Given the description of an element on the screen output the (x, y) to click on. 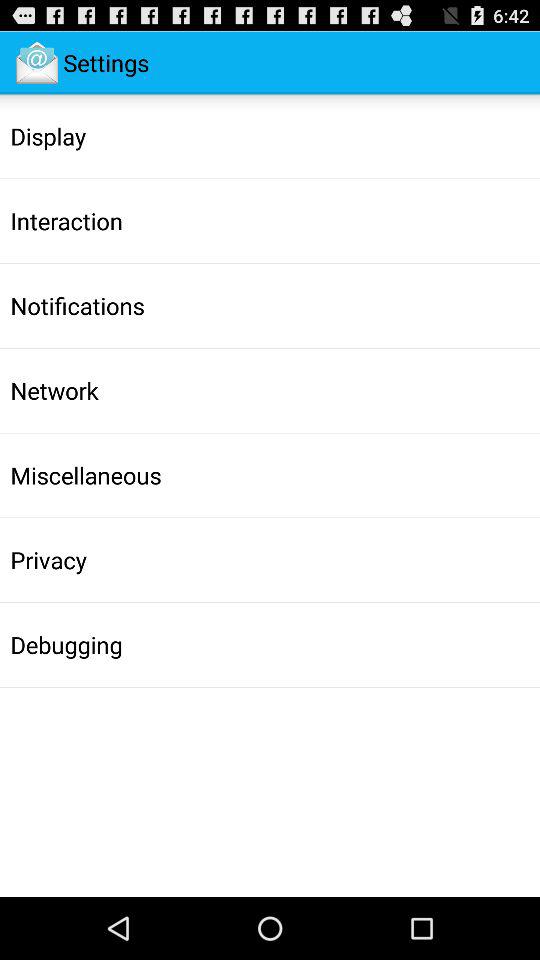
jump to privacy item (48, 560)
